Given the description of an element on the screen output the (x, y) to click on. 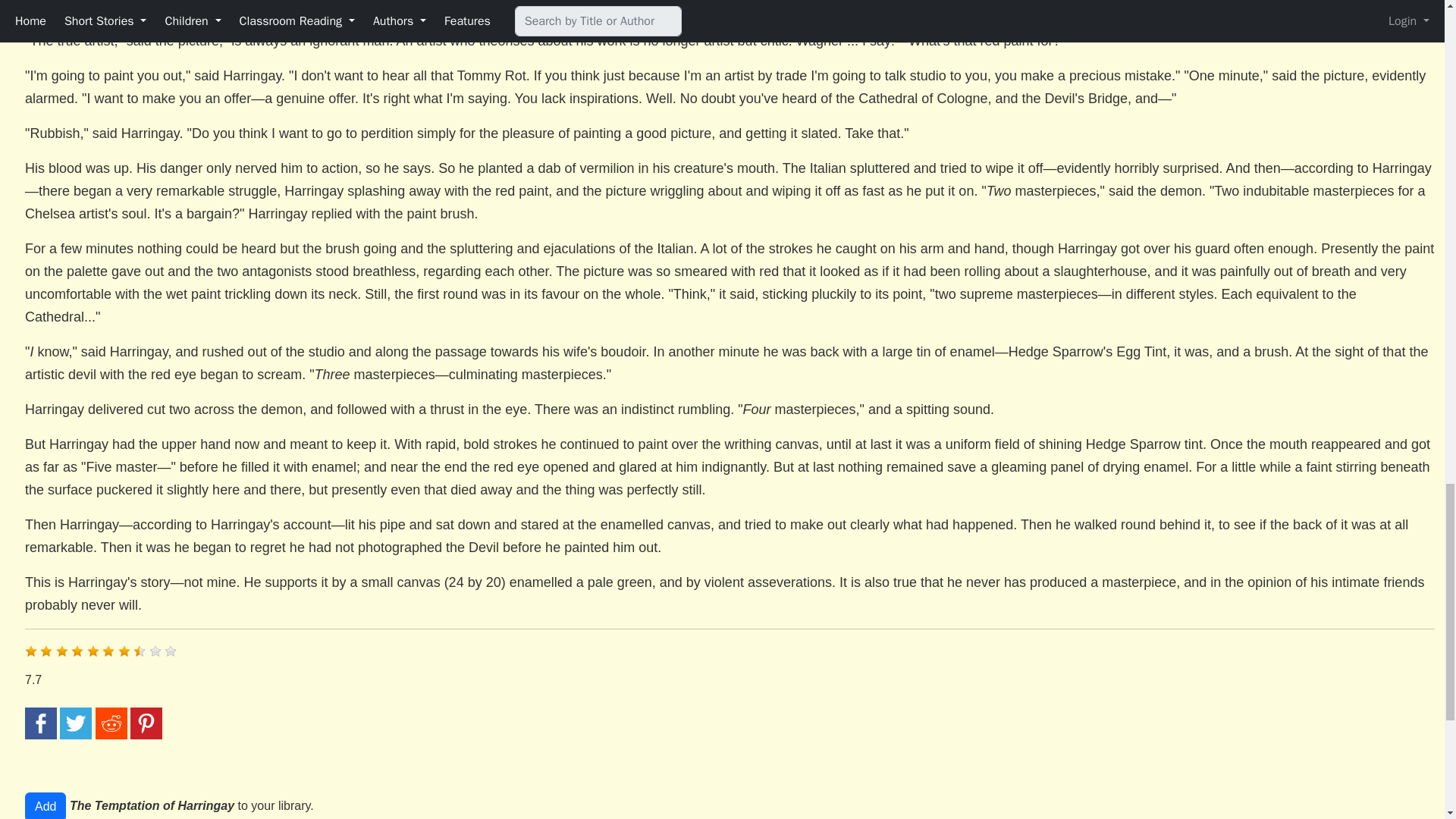
2 - Don't Read  (46, 651)
4 - Okay  (76, 651)
10 - Absolutely Brilliant!  (170, 651)
7 - Very Good - recommended  (124, 651)
6 - Pretty Good - read it  (108, 651)
9 - Loved it!  (155, 651)
3 - Nothing Special  (62, 651)
8 - Very Good - Highly Recommended  (139, 651)
1 - Avoid  (30, 651)
5 - Average - worth reading  (93, 651)
